Given the description of an element on the screen output the (x, y) to click on. 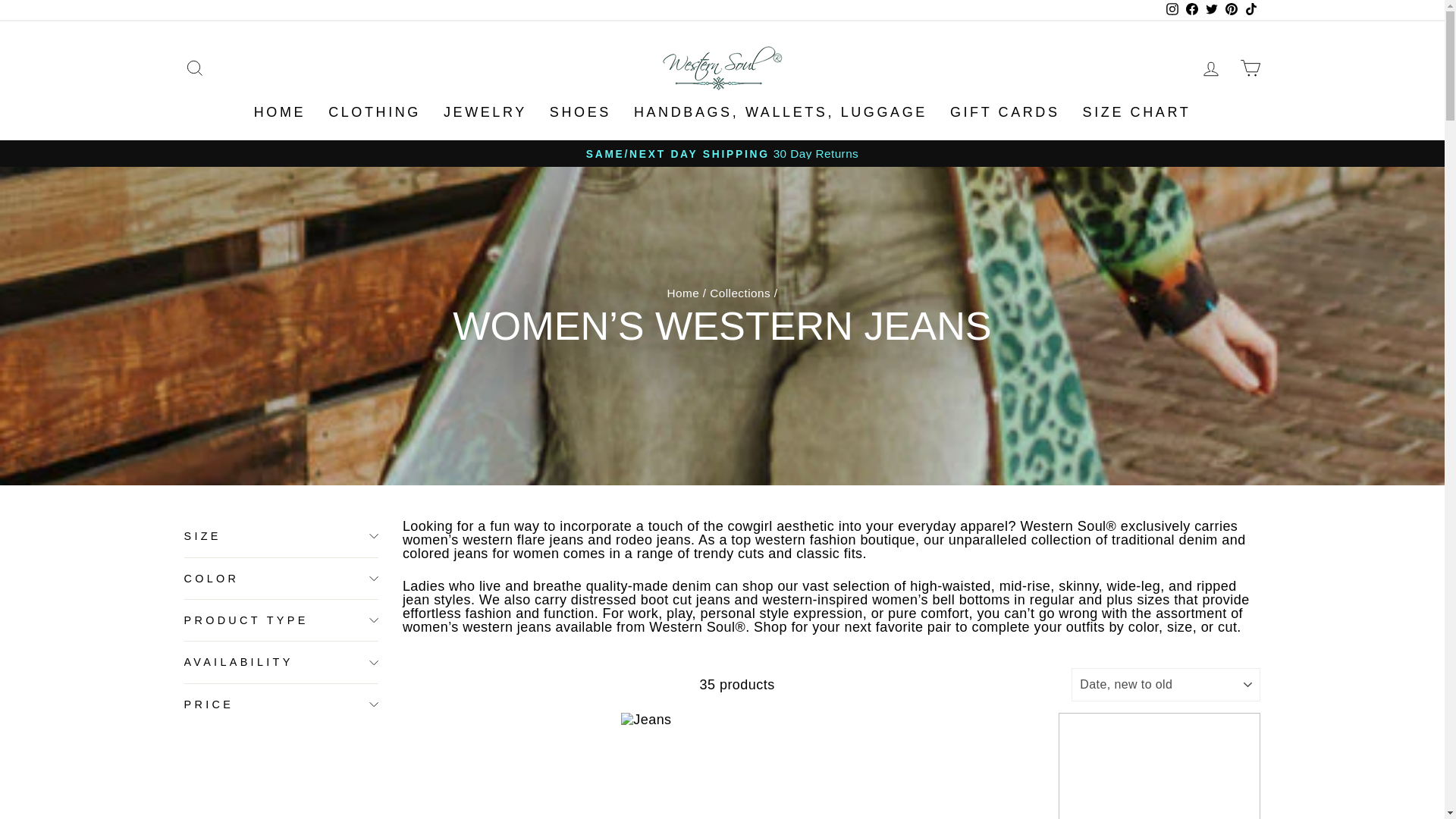
Back to the frontpage (683, 292)
